Given the description of an element on the screen output the (x, y) to click on. 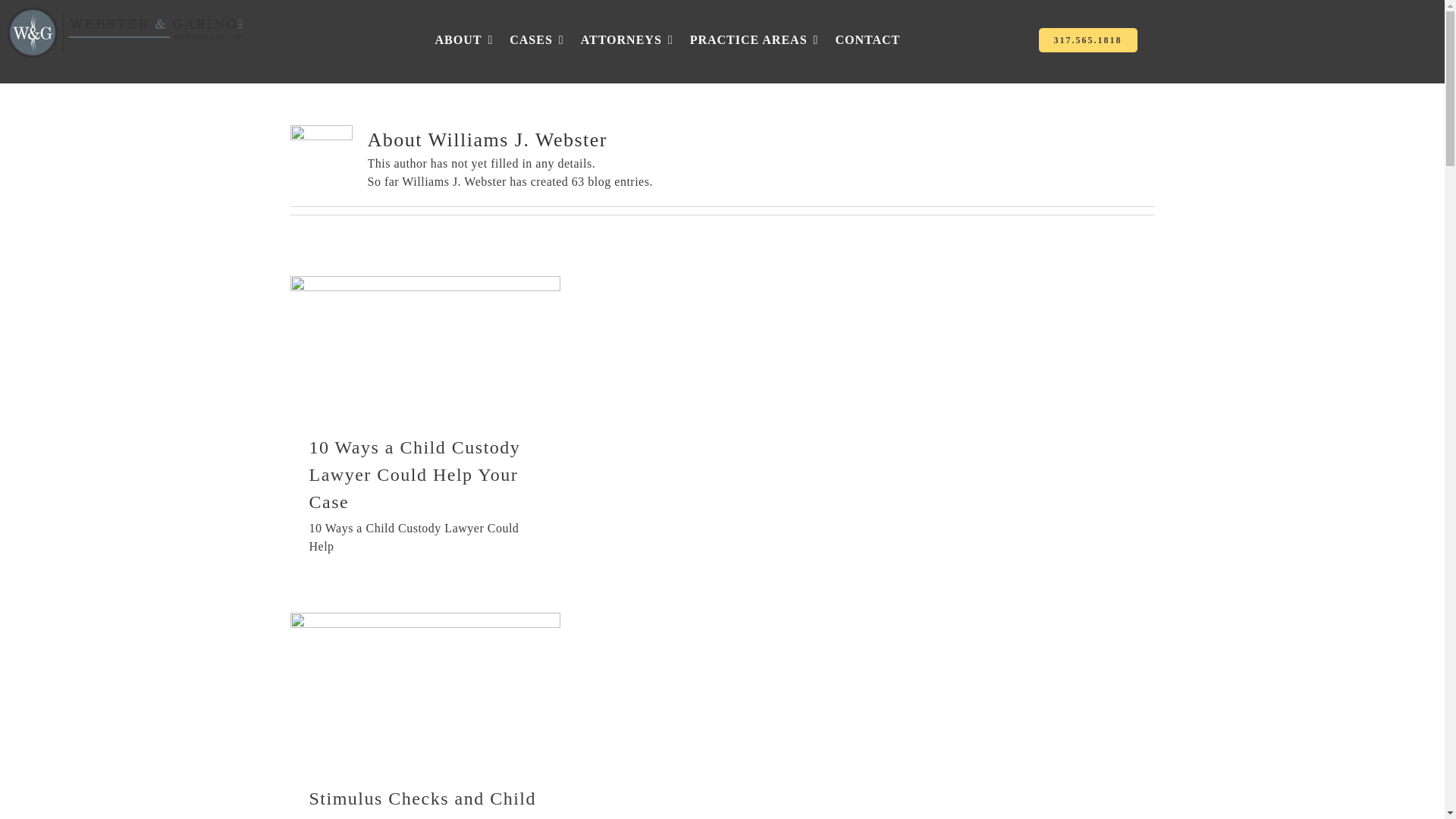
ATTORNEYS (626, 40)
ABOUT (464, 40)
CASES (536, 40)
PRACTICE AREAS (754, 40)
